Given the description of an element on the screen output the (x, y) to click on. 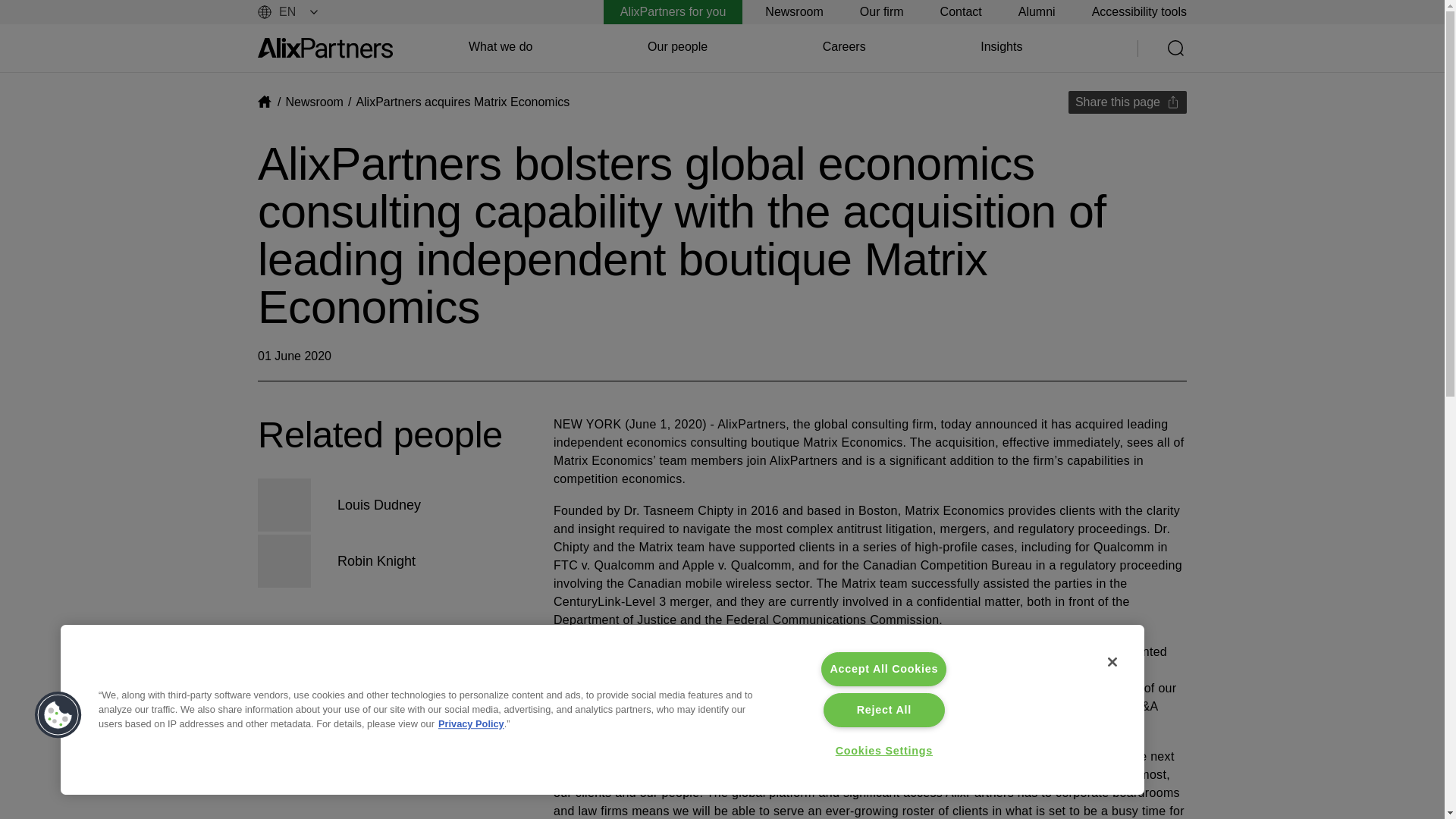
AlixPartners for you (673, 12)
Insights (1000, 47)
Careers (844, 47)
Accessibility tools (1139, 12)
Simon Freakley (596, 651)
Newsroom (793, 12)
Go to home page (325, 47)
Newsroom (313, 102)
What we do (500, 47)
Simon Freakley (596, 651)
Our people (677, 47)
AlixPartners acquires Matrix Economics (462, 102)
Alumni (1036, 12)
Our firm (882, 12)
Cookies Button (57, 715)
